Given the description of an element on the screen output the (x, y) to click on. 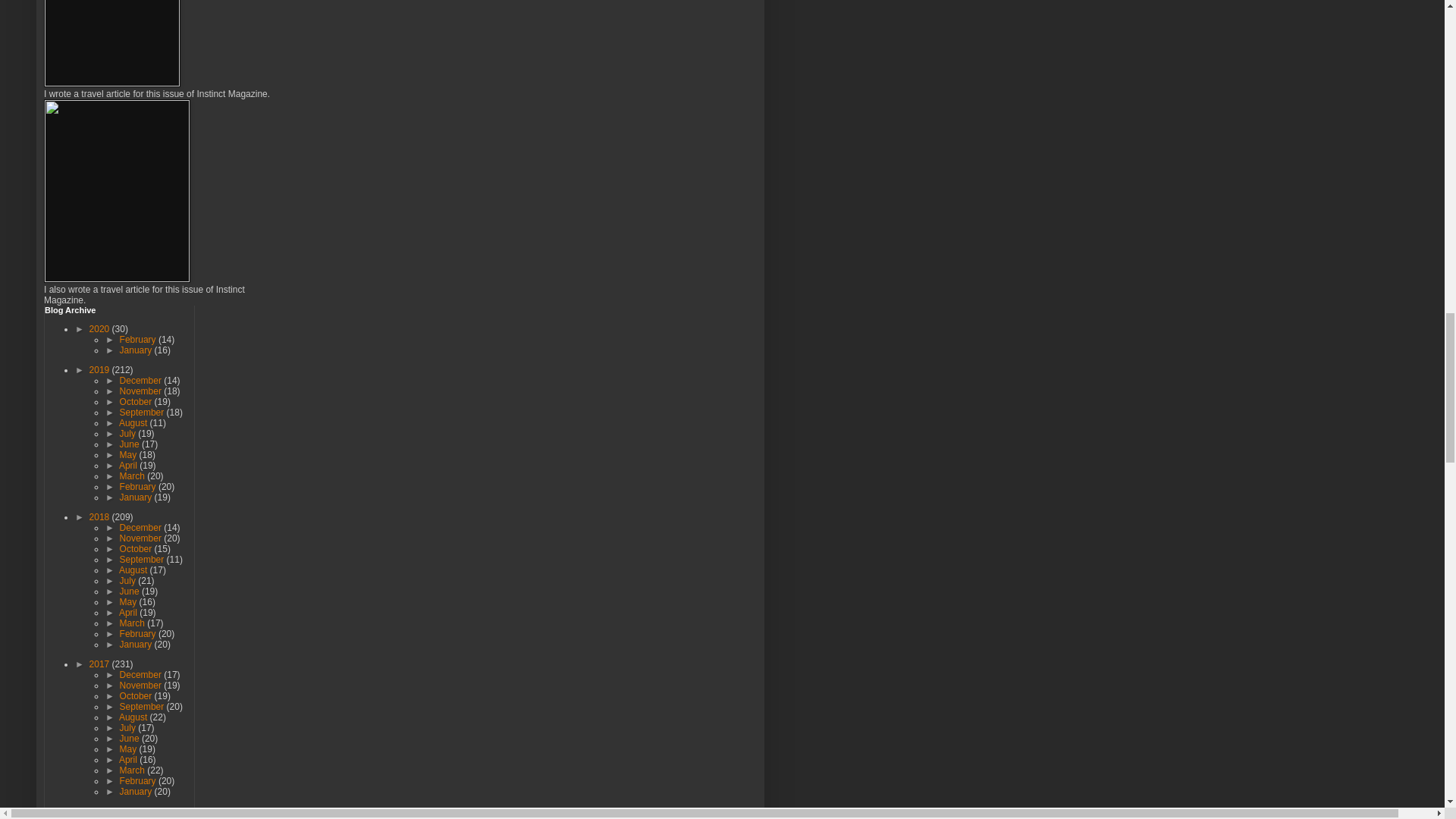
January (136, 349)
2019 (100, 369)
February (138, 339)
2020 (100, 328)
